Given the description of an element on the screen output the (x, y) to click on. 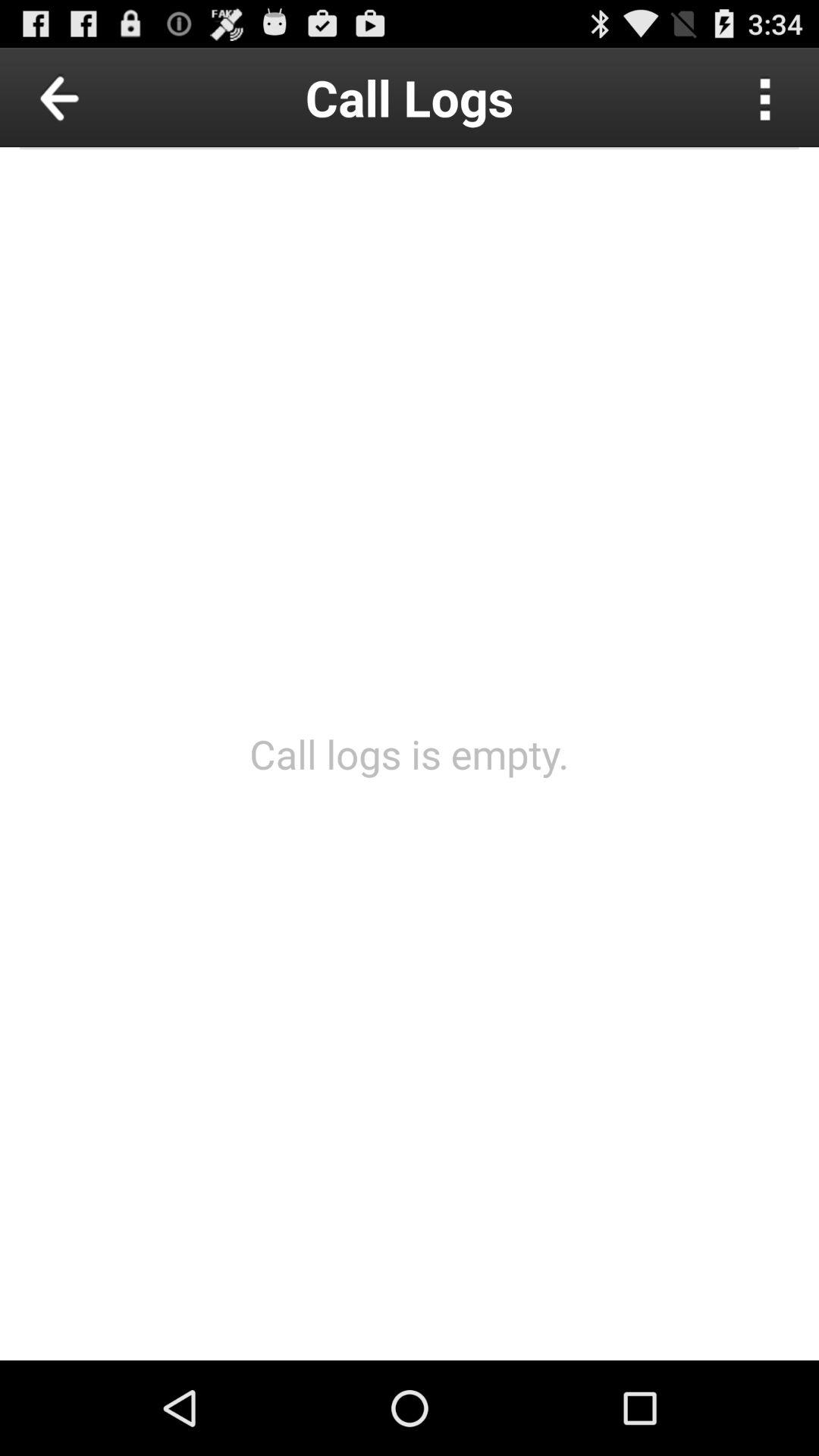
return to previous page (94, 97)
